Given the description of an element on the screen output the (x, y) to click on. 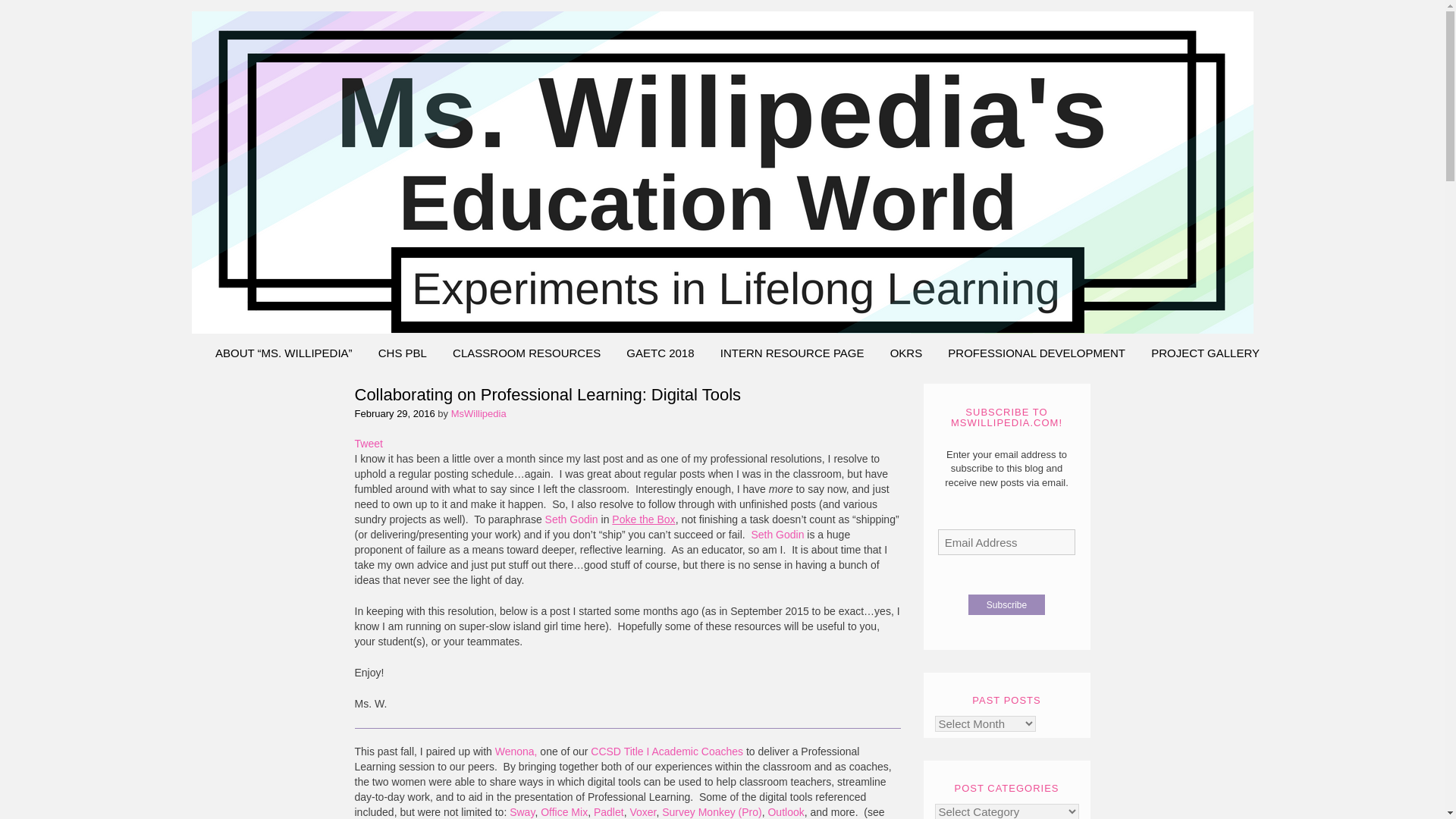
PROFESSIONAL DEVELOPMENT (1036, 352)
CLASSROOM RESOURCES (526, 352)
INTERN RESOURCE PAGE (792, 352)
CHS PBL (402, 352)
OKRS (906, 352)
GAETC 2018 (659, 352)
